Given the description of an element on the screen output the (x, y) to click on. 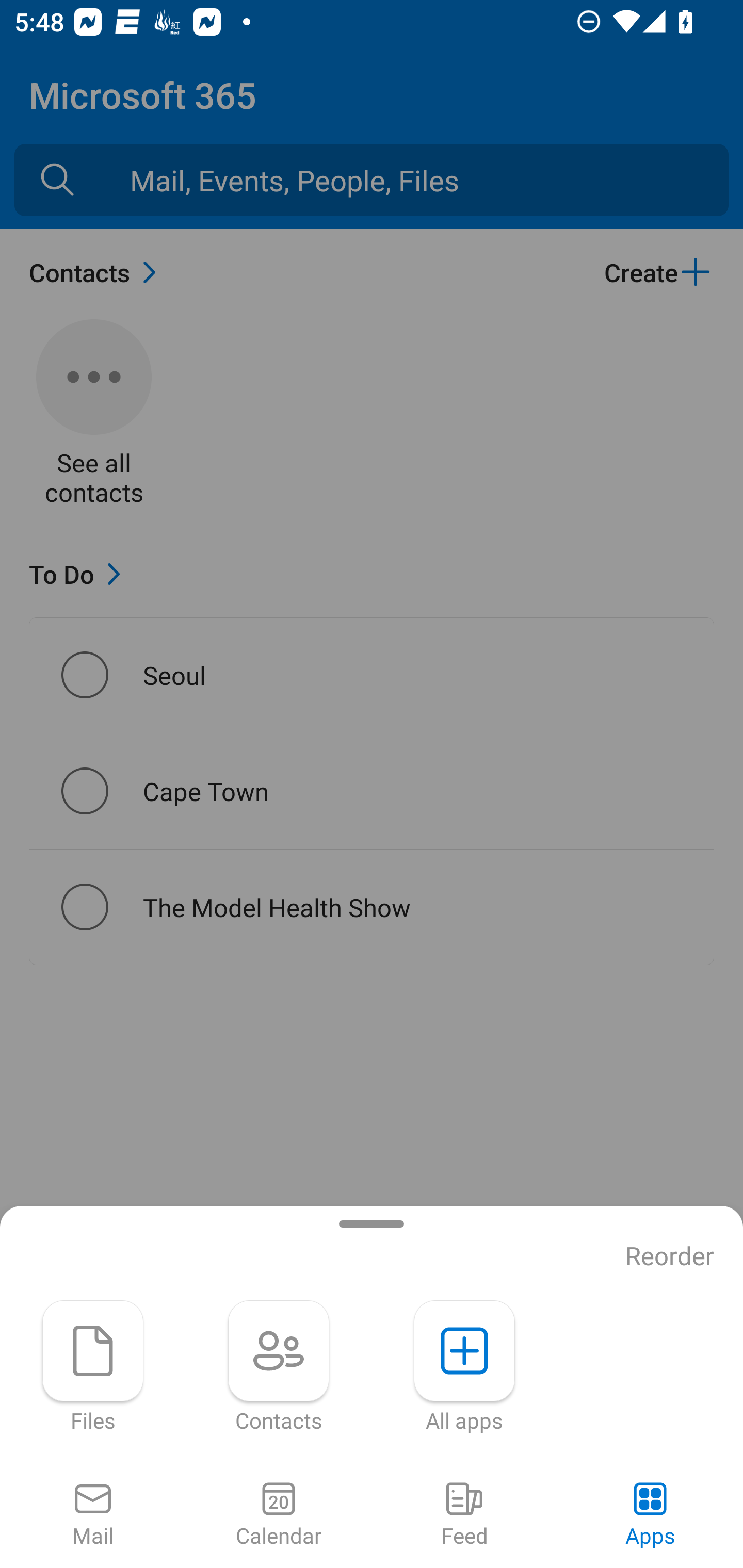
Reorder (669, 1256)
Files (92, 1366)
Contacts (278, 1366)
All apps (464, 1366)
Mail (92, 1515)
Calendar (278, 1515)
Feed (464, 1515)
